Given the description of an element on the screen output the (x, y) to click on. 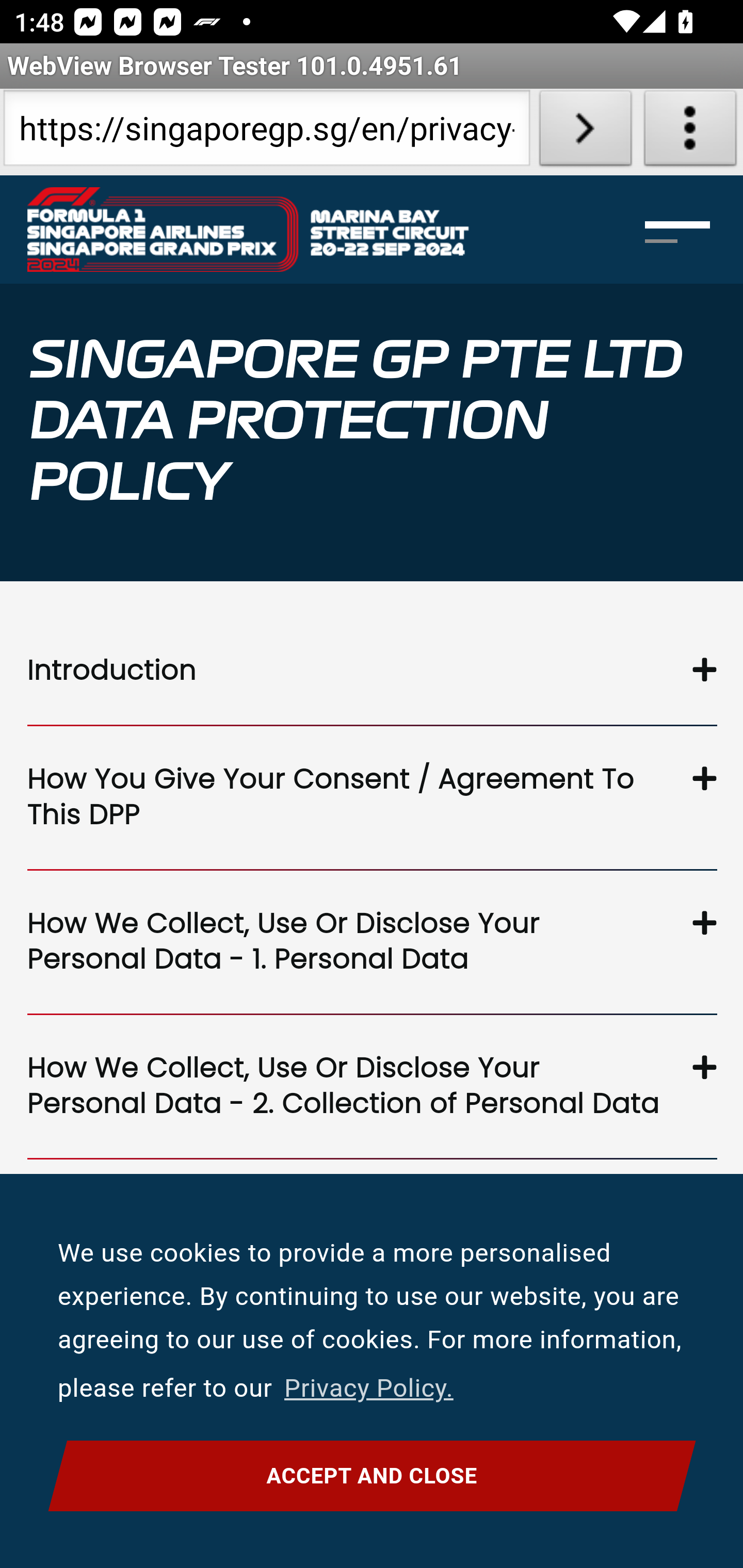
https://singaporegp.sg/en/privacy-policy (266, 132)
Load URL (585, 132)
About WebView (690, 132)
Singapore Grand Prix Logo (247, 229)
learn more about cookies (368, 1388)
dismiss cookie message (371, 1476)
